Given the description of an element on the screen output the (x, y) to click on. 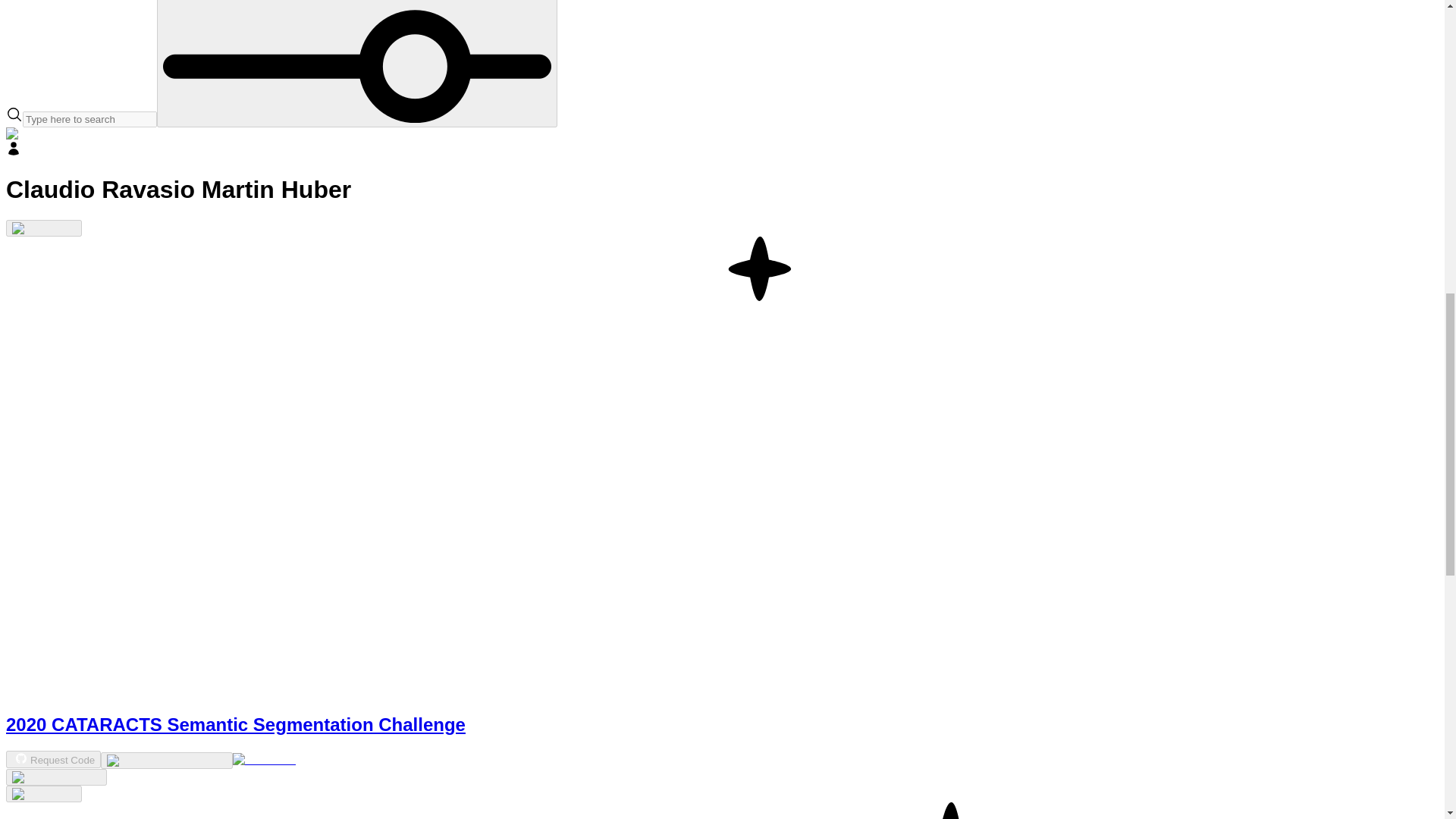
Github IconRequest Code (52, 759)
Bookmark this paper (55, 777)
View code for similar papers (165, 760)
Search Icon (14, 114)
Github IconRequest Code (52, 758)
Github Icon (20, 757)
Get notified when a new paper is added by the author (43, 228)
Get alerts when new code is available for this paper (43, 793)
Contribute your code for this paper to the community (264, 759)
2020 CATARACTS Semantic Segmentation Challenge (235, 724)
